Given the description of an element on the screen output the (x, y) to click on. 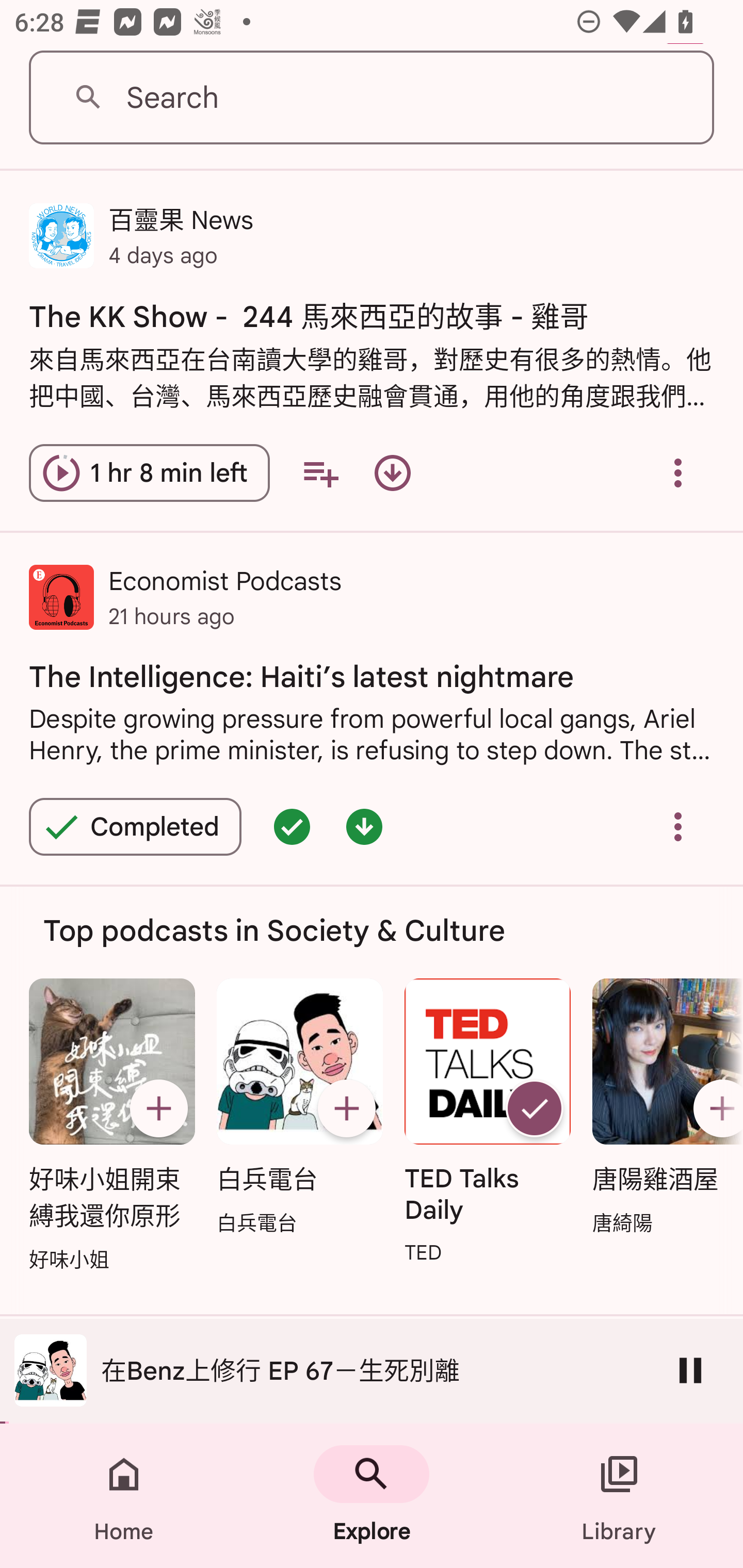
Search (371, 97)
Add to your queue (320, 472)
Download episode (392, 472)
Overflow menu (677, 472)
Episode queued - double tap for options (291, 827)
Episode downloaded - double tap for options (364, 827)
Overflow menu (677, 827)
好味小姐開束縛我還你原形 Subscribe 好味小姐開束縛我還你原形 好味小姐 (111, 1126)
白兵電台 Subscribe 白兵電台 白兵電台 (299, 1107)
TED Talks Daily Unsubscribe TED Talks Daily TED (487, 1122)
唐陽雞酒屋 Subscribe 唐陽雞酒屋 唐綺陽 (662, 1107)
Subscribe (158, 1108)
Subscribe (346, 1108)
Unsubscribe (534, 1108)
Subscribe (714, 1108)
白兵電台 在Benz上修行 EP 67－生死別離 Pause 68.0 (371, 1370)
Pause (690, 1370)
Home (123, 1495)
Library (619, 1495)
